Given the description of an element on the screen output the (x, y) to click on. 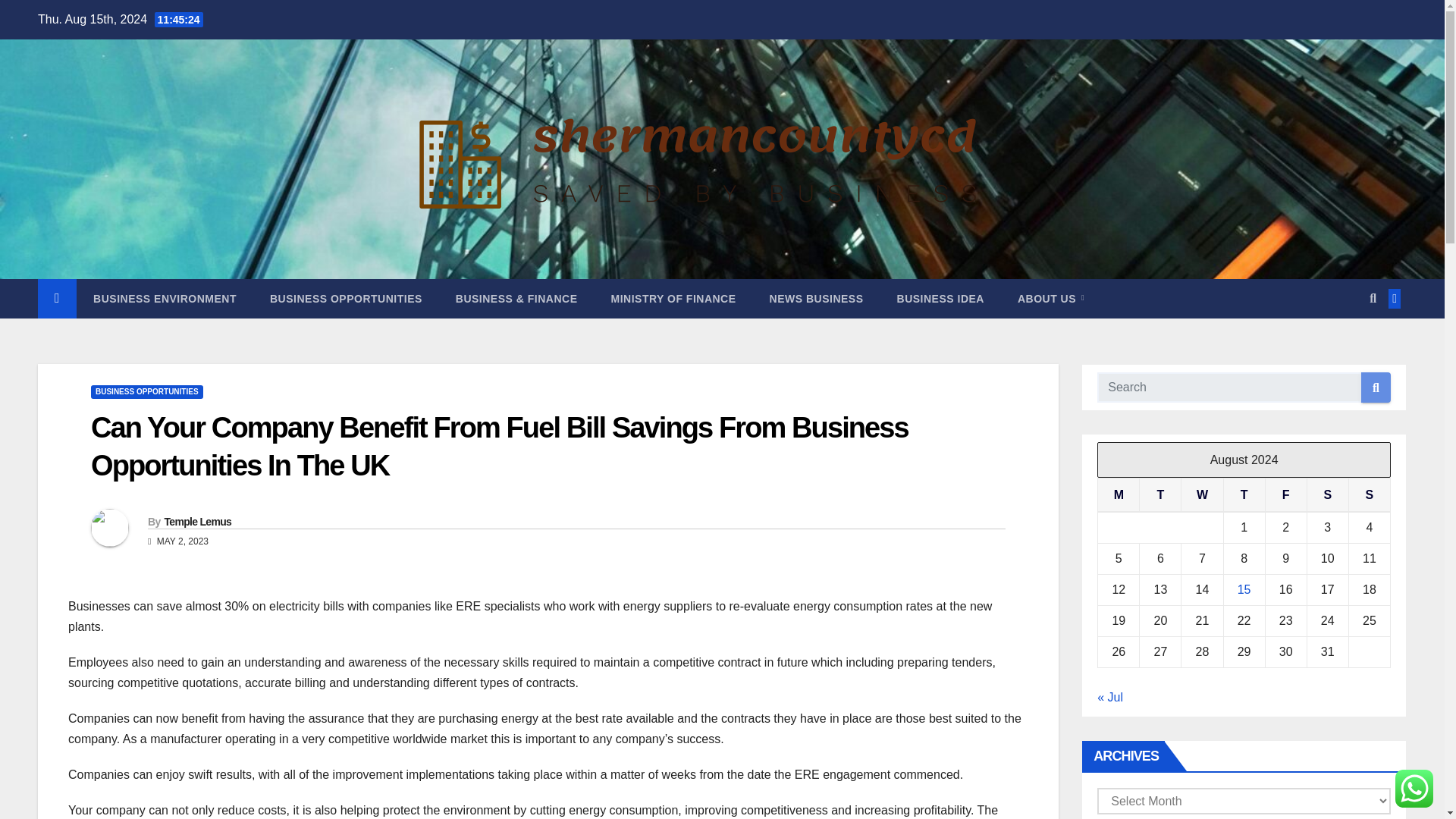
About Us (1050, 298)
Temple Lemus (197, 521)
BUSINESS OPPORTUNITIES (346, 298)
BUSINESS IDEA (940, 298)
MINISTRY OF FINANCE (673, 298)
News Business (816, 298)
NEWS BUSINESS (816, 298)
BUSINESS OPPORTUNITIES (146, 391)
